Given the description of an element on the screen output the (x, y) to click on. 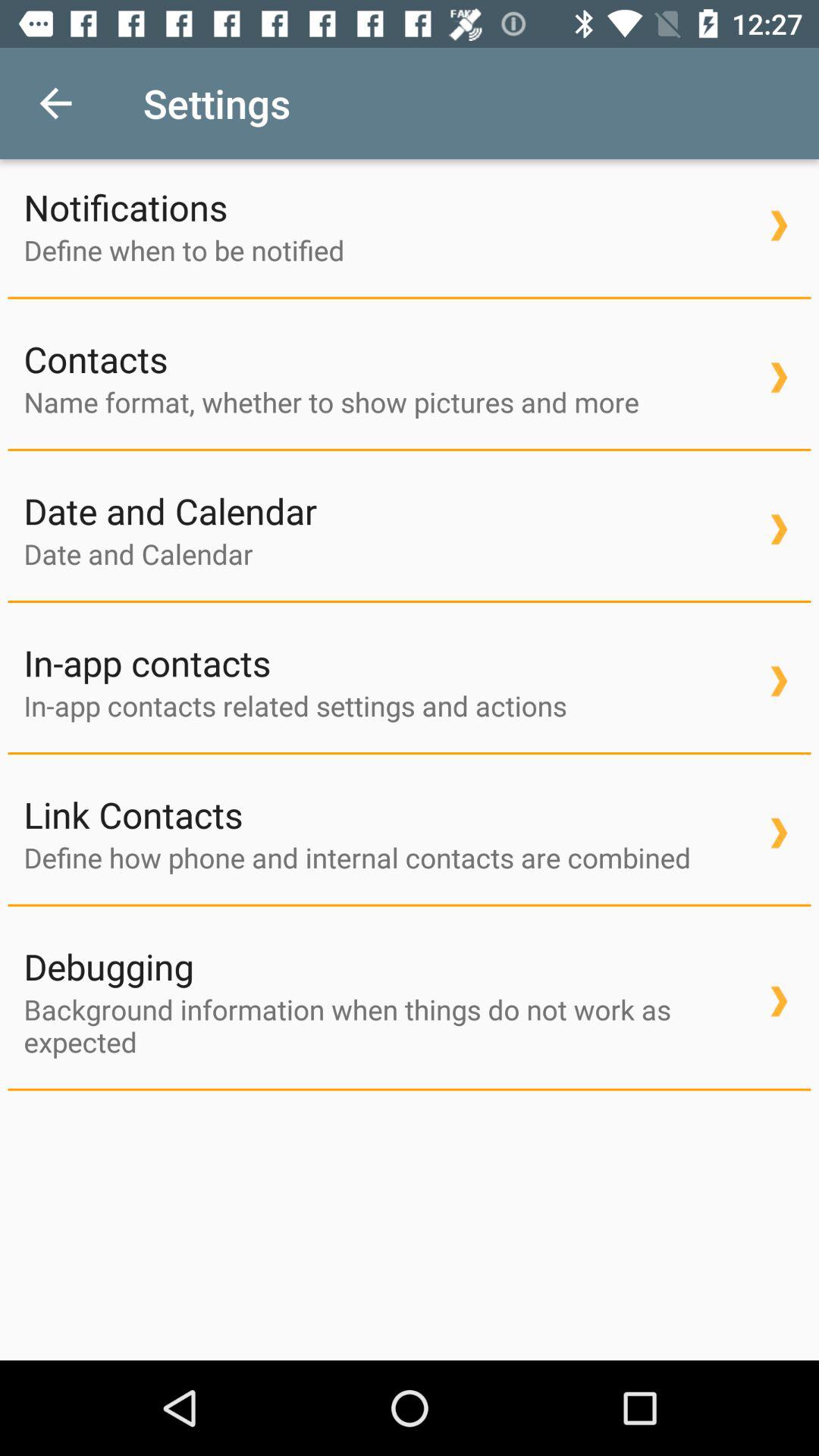
press the icon to the left of settings icon (55, 103)
